Given the description of an element on the screen output the (x, y) to click on. 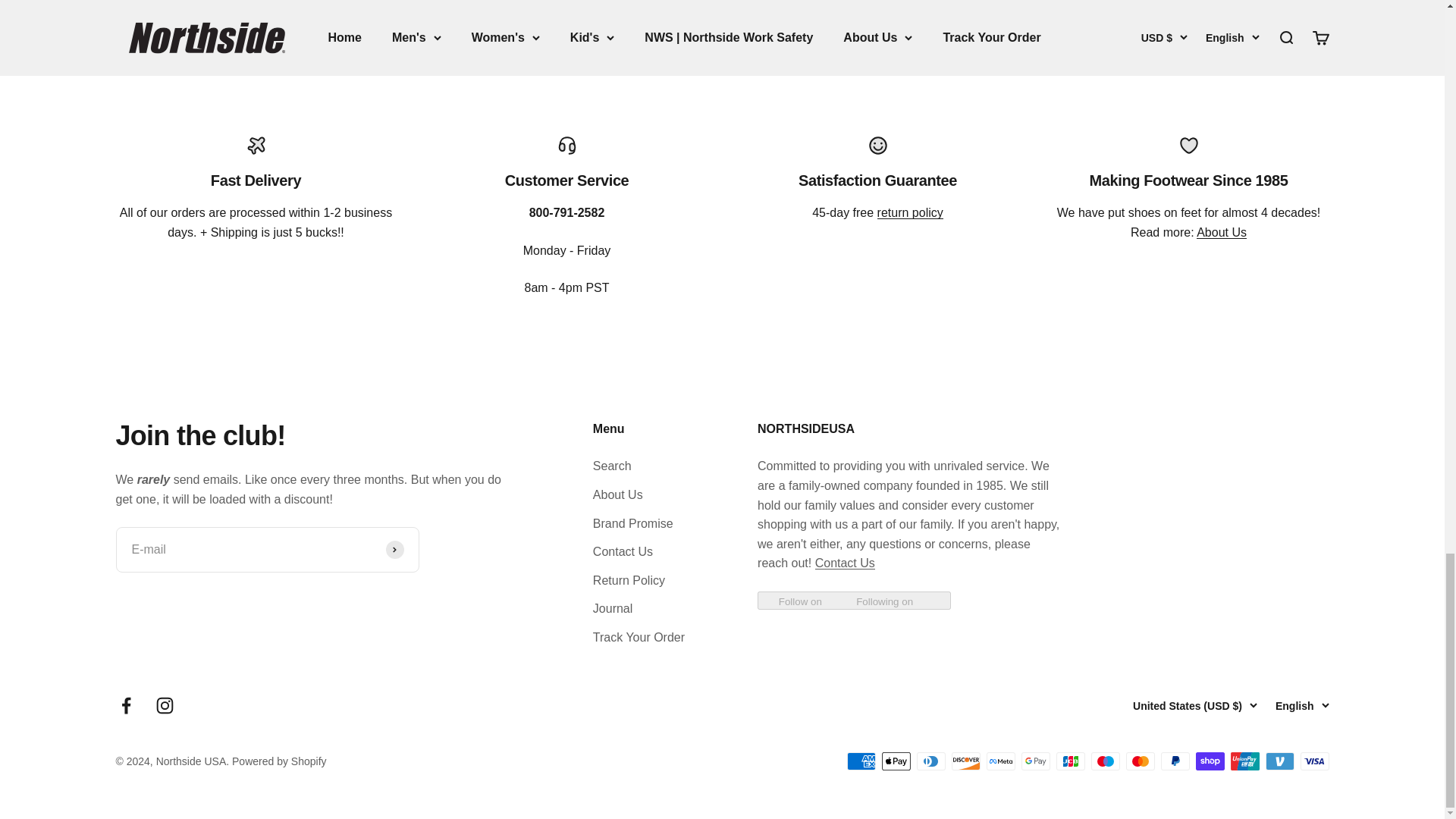
Contact Us (845, 562)
About Us (1221, 232)
Refund Policy (910, 212)
